Given the description of an element on the screen output the (x, y) to click on. 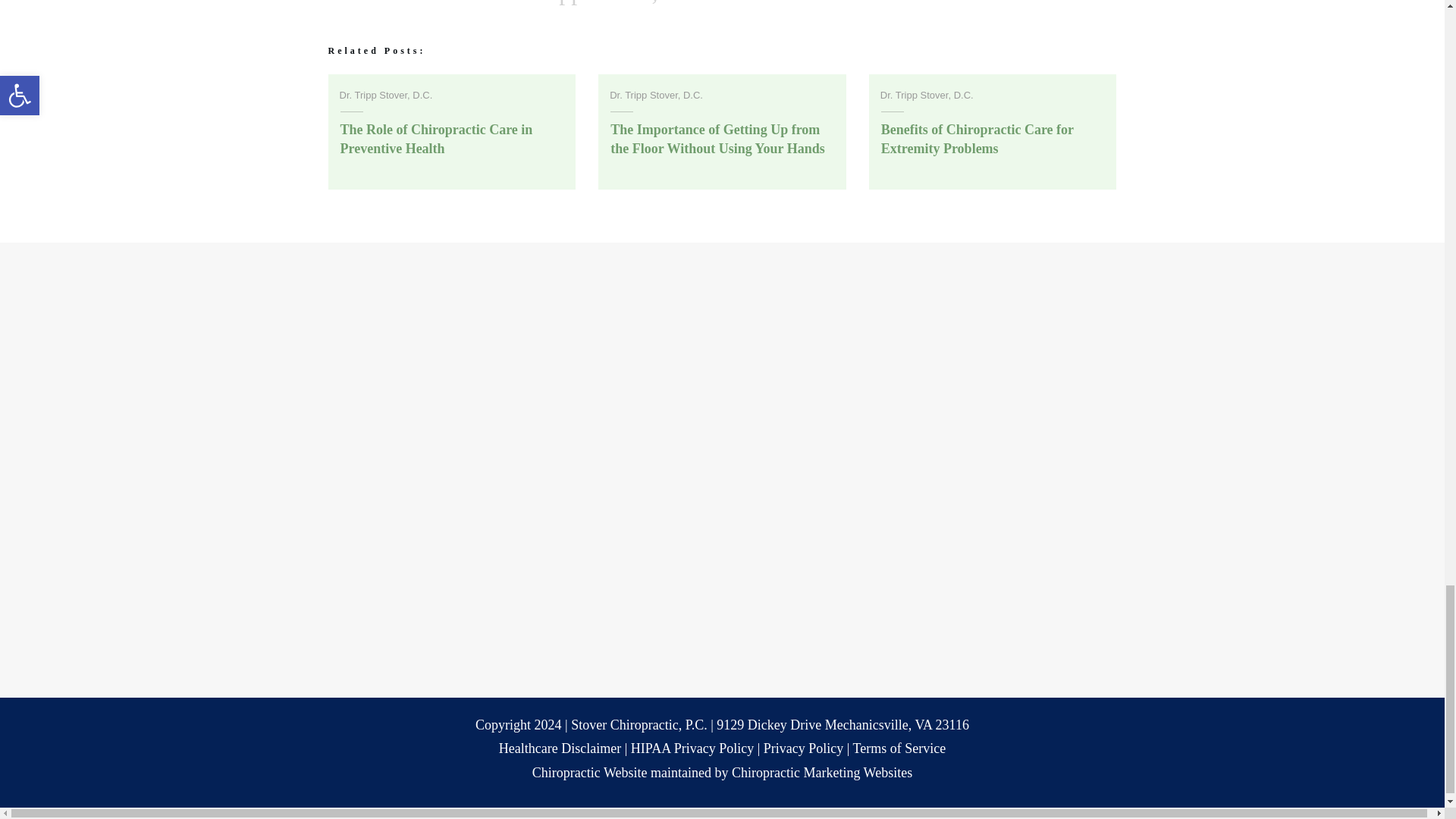
Healthcare Disclaimer (560, 748)
Benefits of Chiropractic Care for Extremity Problems (977, 139)
HIPAA Privacy Policy (692, 748)
Chiropractic Website (589, 772)
Terms of Service (899, 748)
The Role of Chiropractic Care in Preventive Health (435, 139)
Privacy Policy (803, 748)
